Given the description of an element on the screen output the (x, y) to click on. 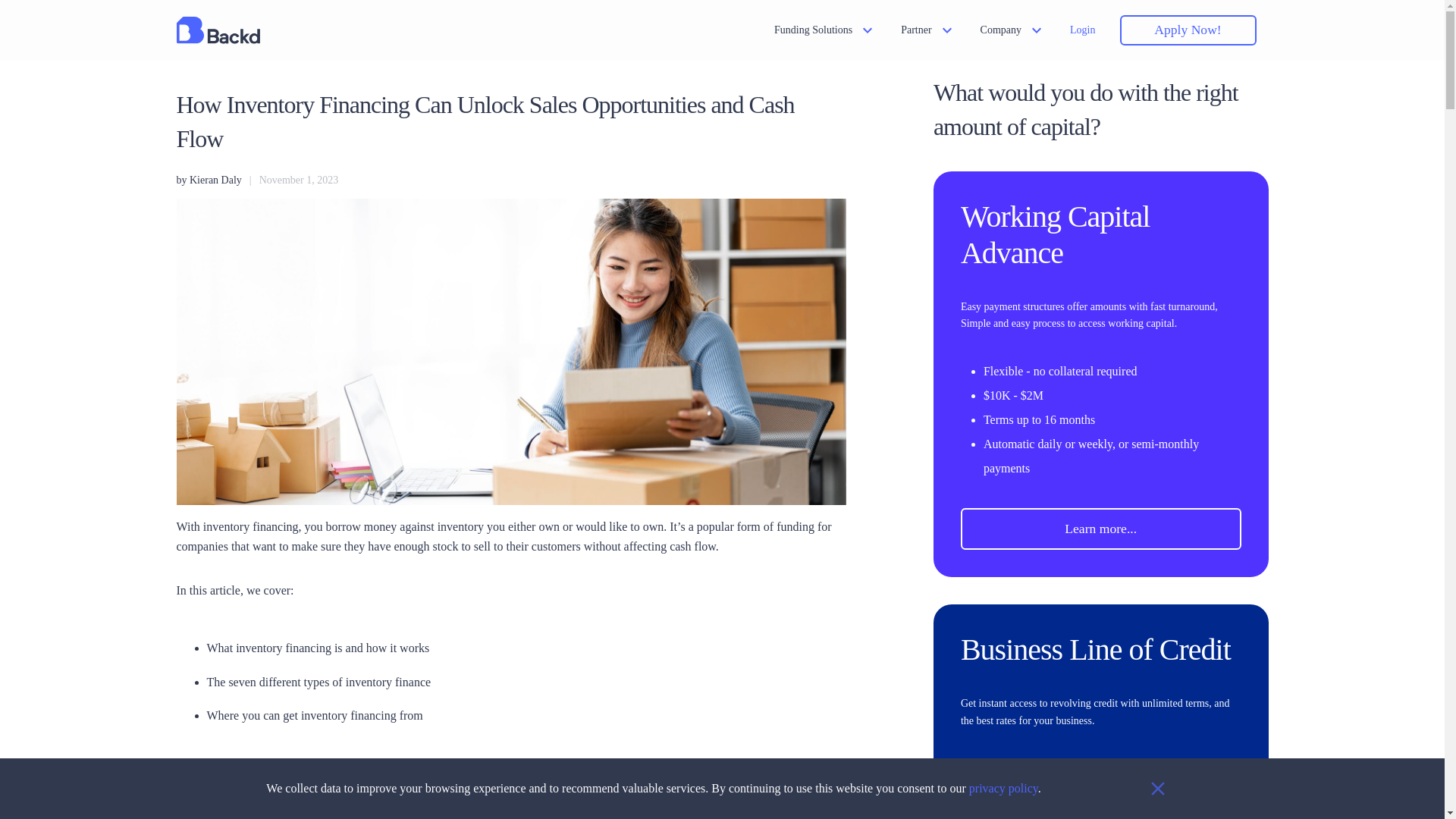
Login (1082, 30)
Partner (928, 30)
Learn more... (1100, 528)
Funding Solutions (825, 30)
Apply Now! (1187, 30)
privacy policy (1003, 788)
Company (1012, 30)
